Given the description of an element on the screen output the (x, y) to click on. 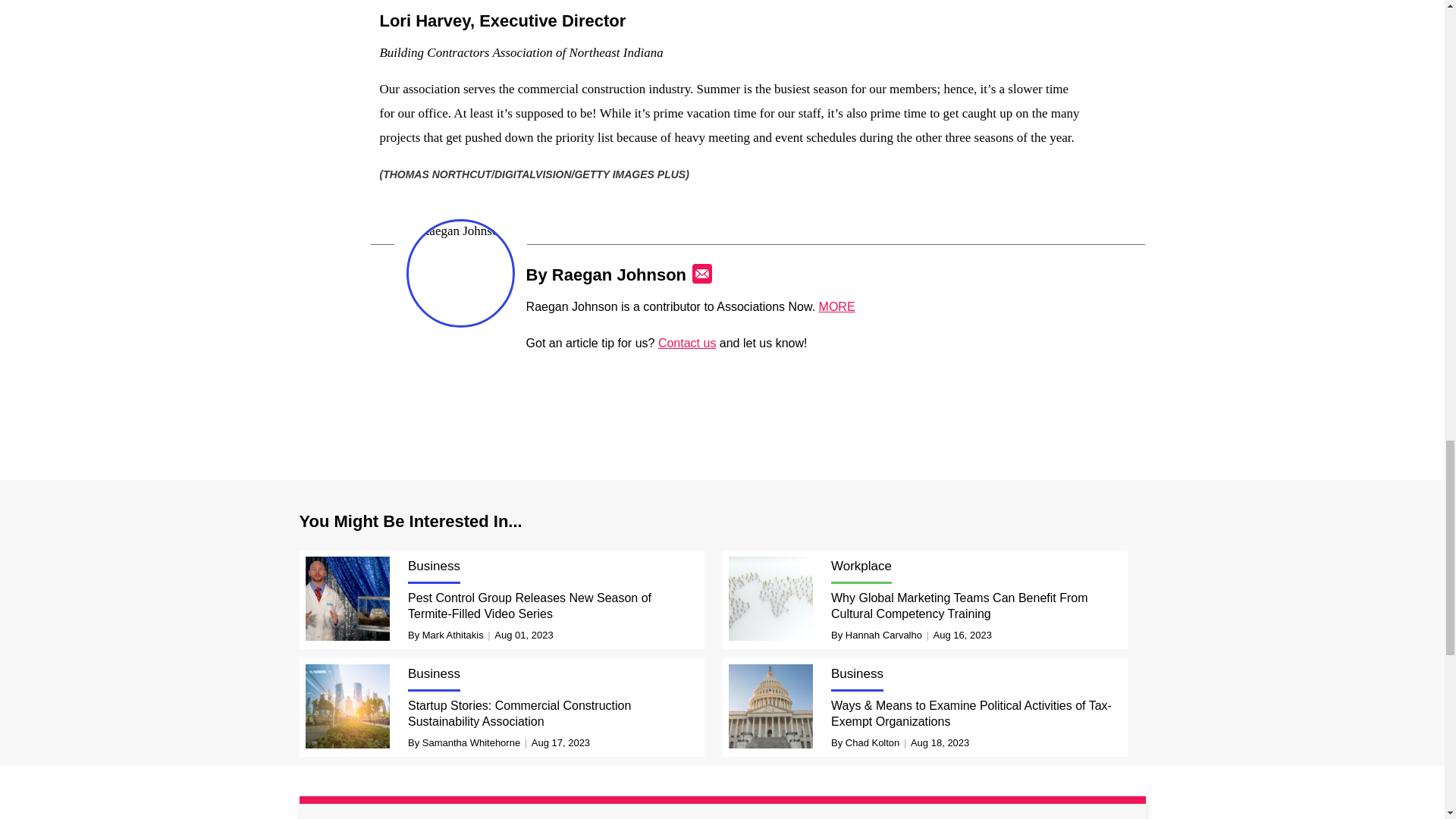
Email (702, 273)
Mail (702, 273)
Contact us (687, 342)
3rd party ad content (722, 401)
MORE (837, 306)
